Given the description of an element on the screen output the (x, y) to click on. 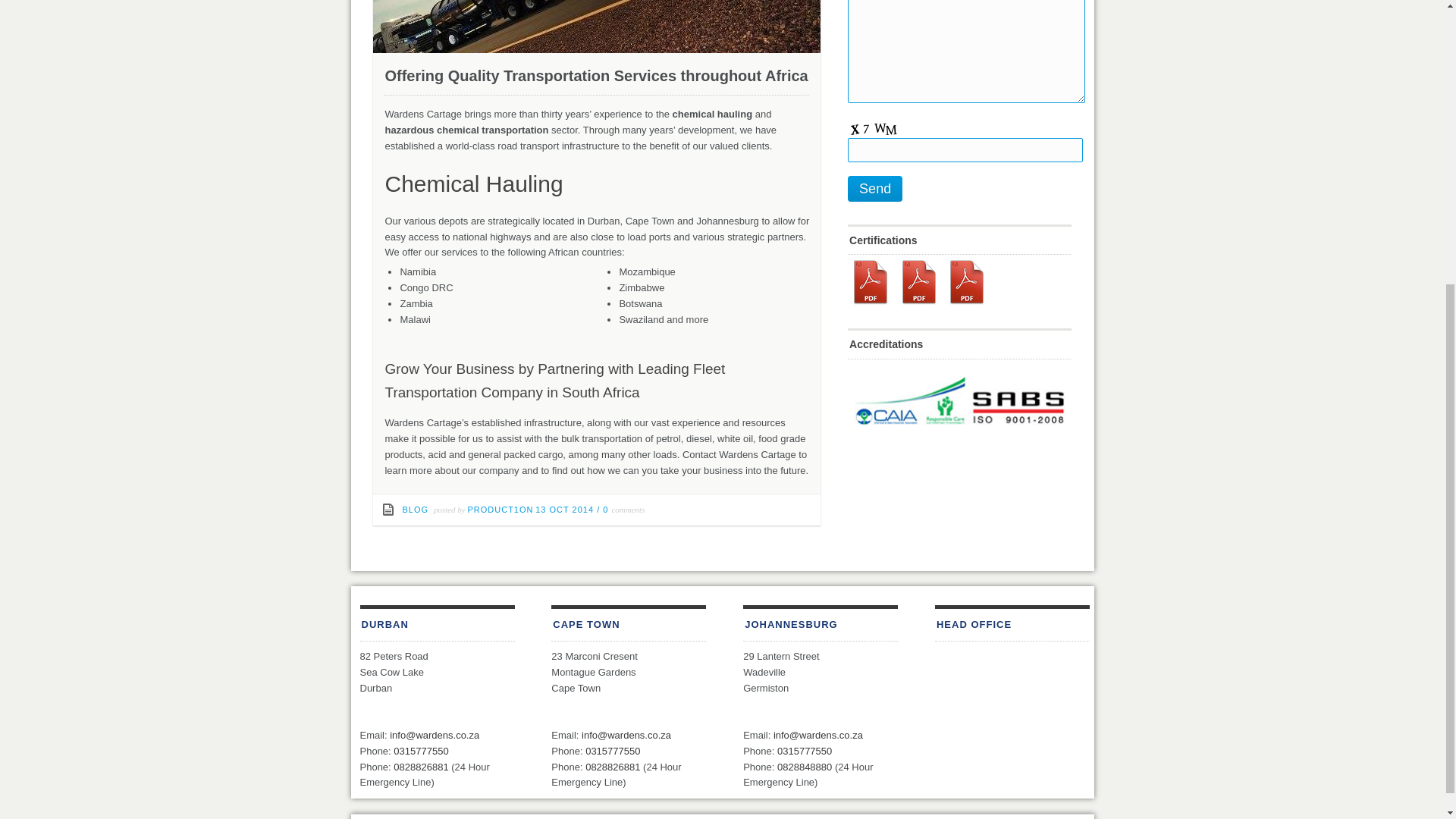
Send (874, 188)
BLOG (414, 509)
0828826881 (420, 767)
0828826881 (612, 767)
0 (606, 509)
Send (874, 188)
0828848880 (804, 767)
PRODUCT1ON (499, 509)
0315777550 (804, 750)
Offering Quality Transportation Services throughout Africa (596, 75)
0315777550 (420, 750)
Posts by Product1on (499, 509)
0315777550 (612, 750)
